Given the description of an element on the screen output the (x, y) to click on. 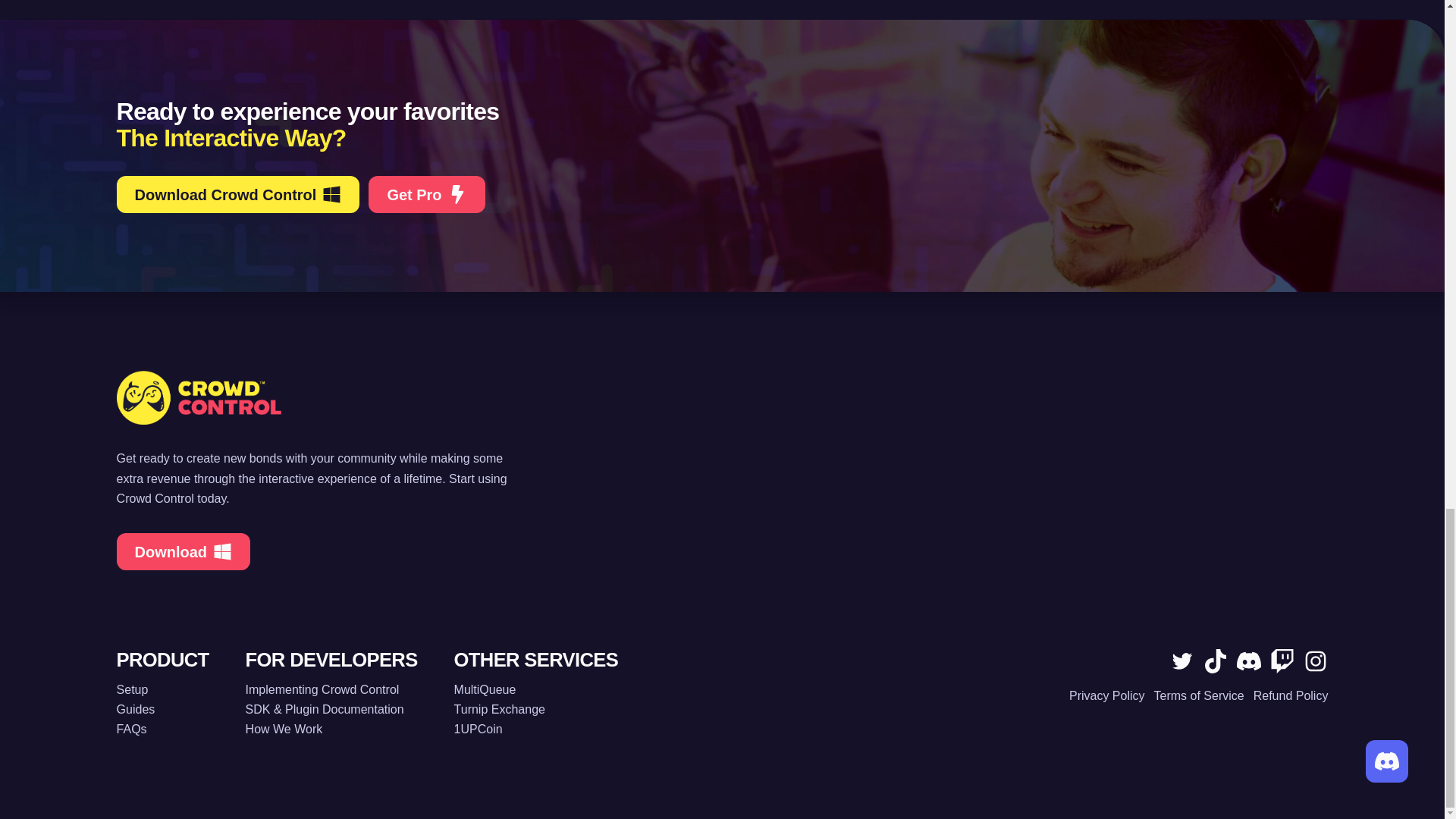
Download Crowd Control (237, 194)
Crowd Control (721, 398)
Download (183, 551)
Get Pro (426, 194)
Setup (162, 690)
